Given the description of an element on the screen output the (x, y) to click on. 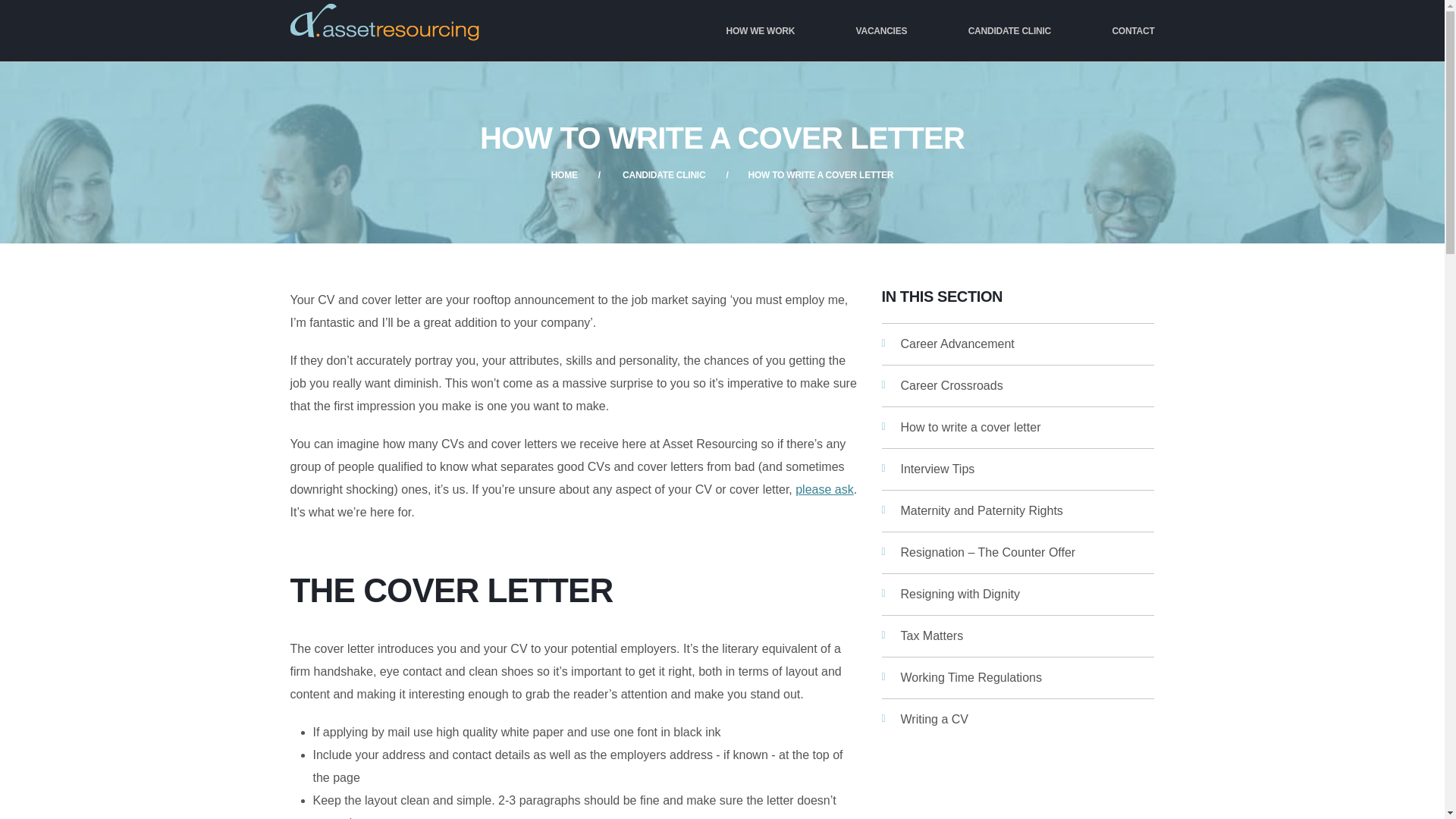
Resigning with Dignity (1017, 594)
Tax Matters (1017, 635)
HOME (564, 174)
Career Advancement (1017, 343)
CANDIDATE CLINIC (1009, 31)
Working Time Regulations (1017, 677)
Maternity and Paternity Rights (1017, 510)
please ask (823, 489)
HOW WE WORK (759, 31)
How to write a cover letter (1017, 427)
